Given the description of an element on the screen output the (x, y) to click on. 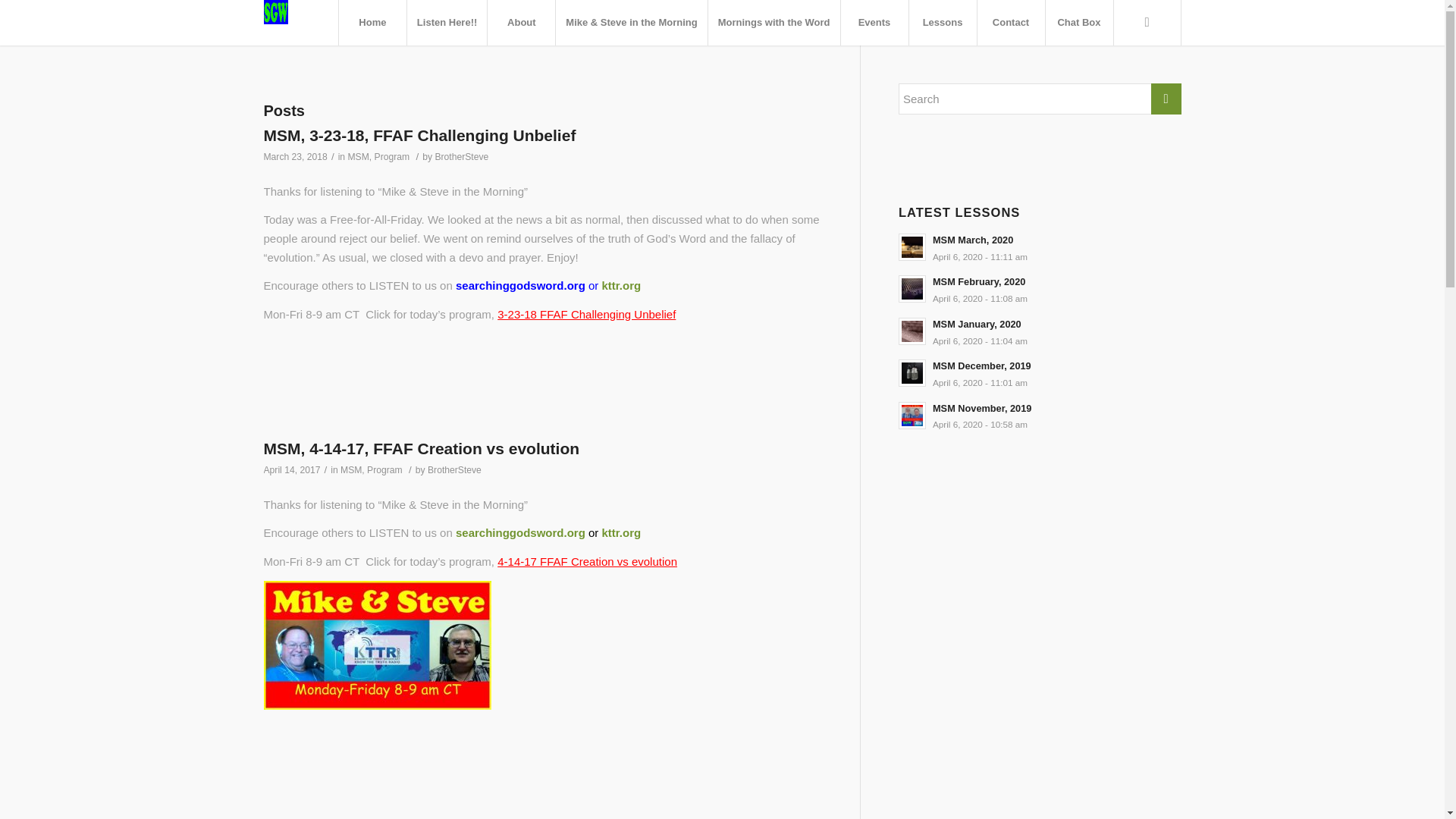
Events (874, 22)
Permanent Link: MSM, 4-14-17, FFAF Creation vs evolution (1039, 247)
Mornings with the Word (1039, 288)
MSM November, 2019 (421, 448)
Program (773, 22)
BrotherSteve (1039, 415)
MSM December, 2019 (384, 470)
Lessons (460, 156)
MSM March, 2020 (1039, 373)
MSM January, 2020 (942, 22)
Chat Box (1039, 247)
About (1039, 331)
